Given the description of an element on the screen output the (x, y) to click on. 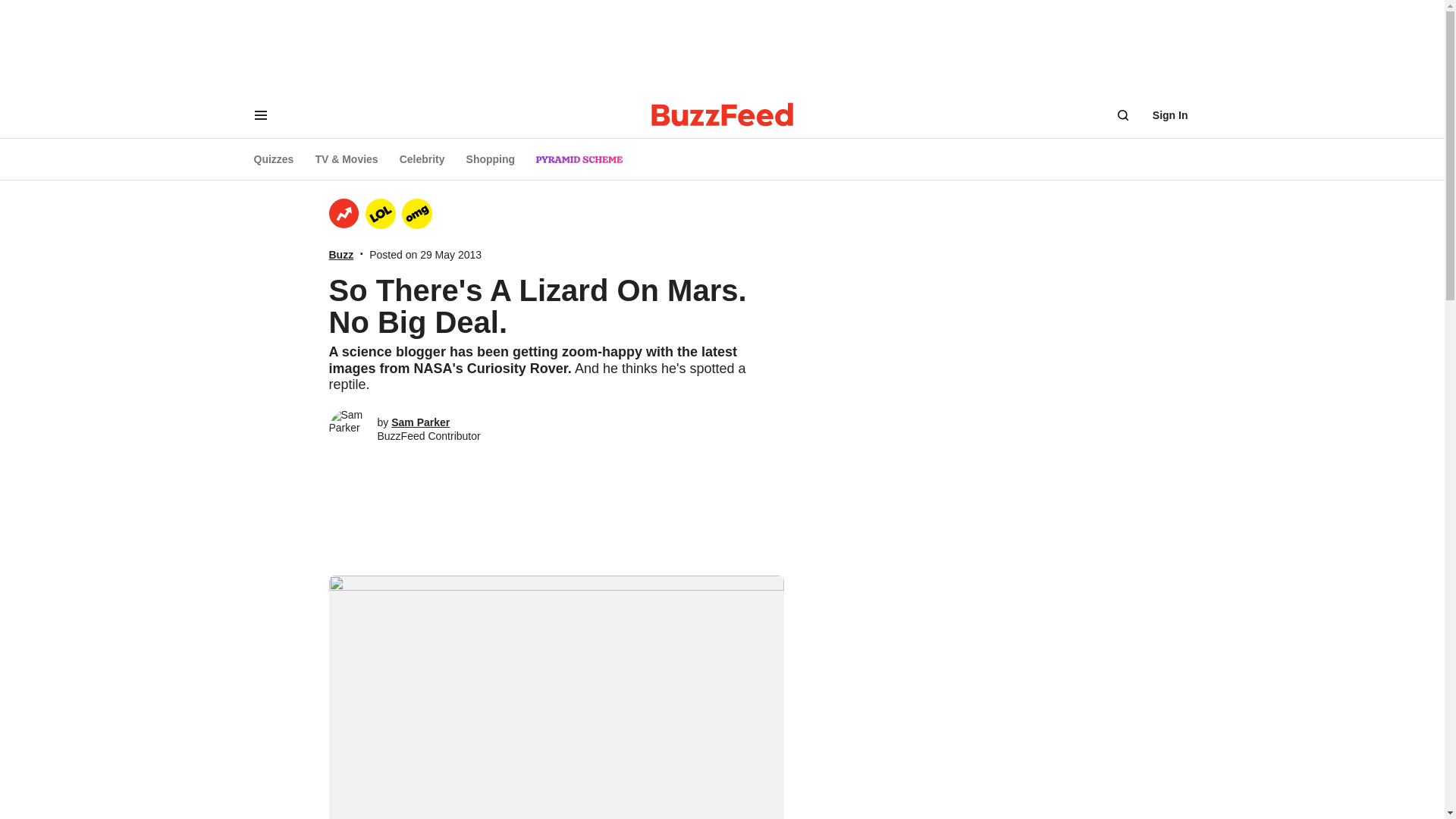
Sign In (1170, 114)
